Given the description of an element on the screen output the (x, y) to click on. 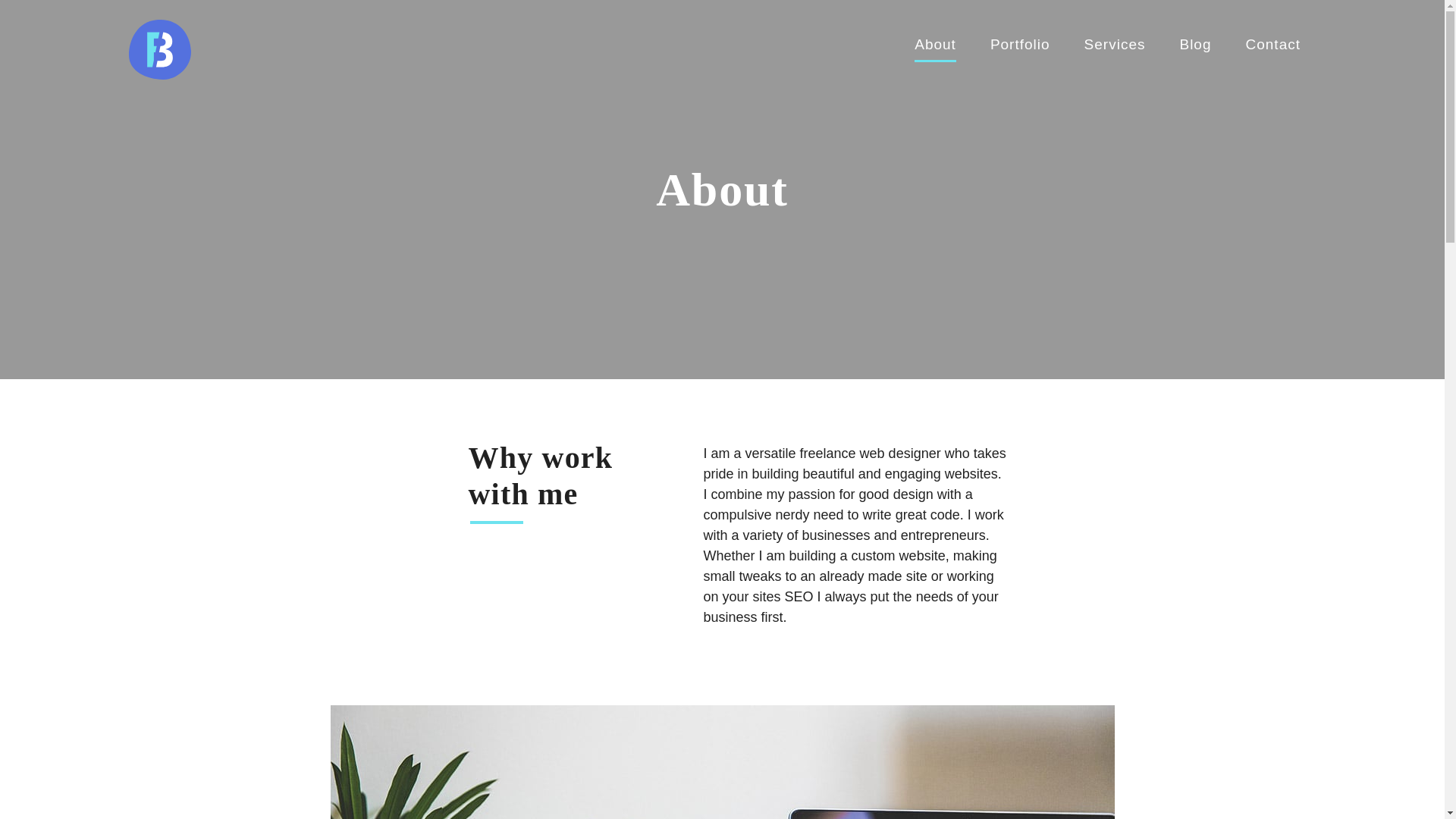
Services (1114, 44)
Contact (1273, 44)
About (935, 44)
Blog (1195, 44)
Portfolio (1019, 44)
